Given the description of an element on the screen output the (x, y) to click on. 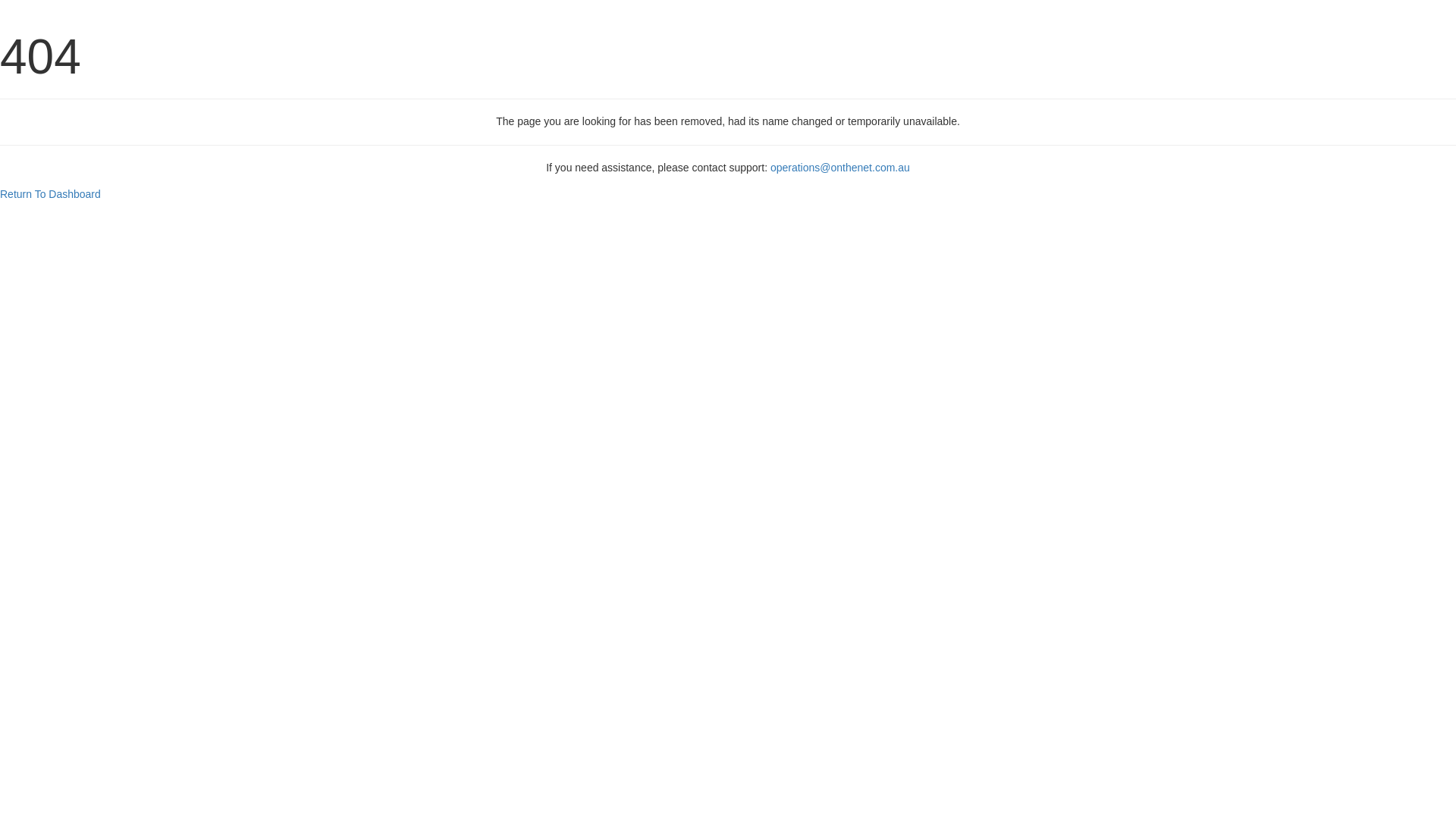
Return To Dashboard Element type: text (50, 194)
operations@onthenet.com.au Element type: text (840, 167)
